Given the description of an element on the screen output the (x, y) to click on. 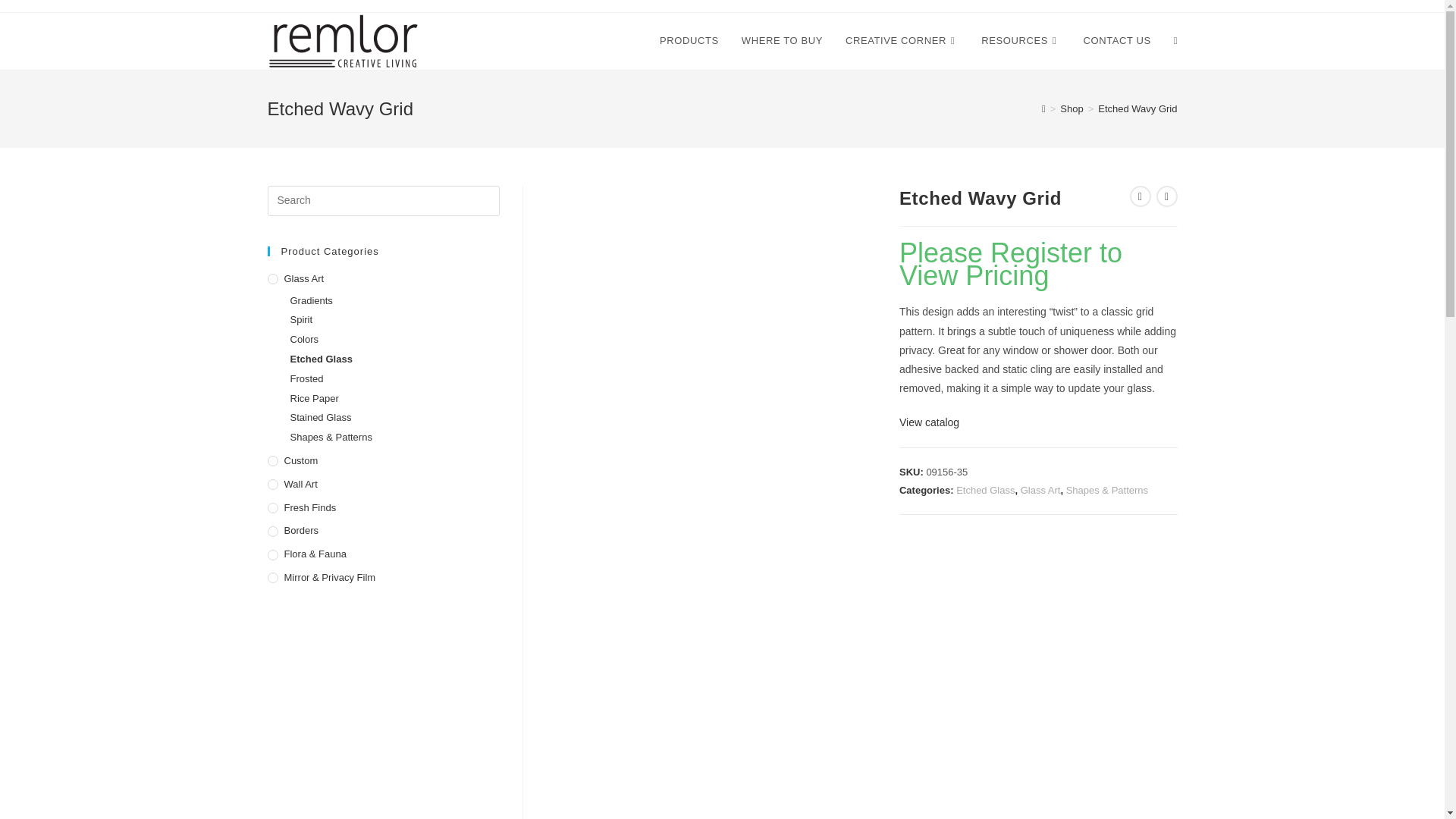
Shop (1071, 108)
PRODUCTS (688, 40)
Etched Wavy Grid (1136, 108)
CREATIVE CORNER (901, 40)
CONTACT US (1116, 40)
WHERE TO BUY (782, 40)
RESOURCES (1020, 40)
